Given the description of an element on the screen output the (x, y) to click on. 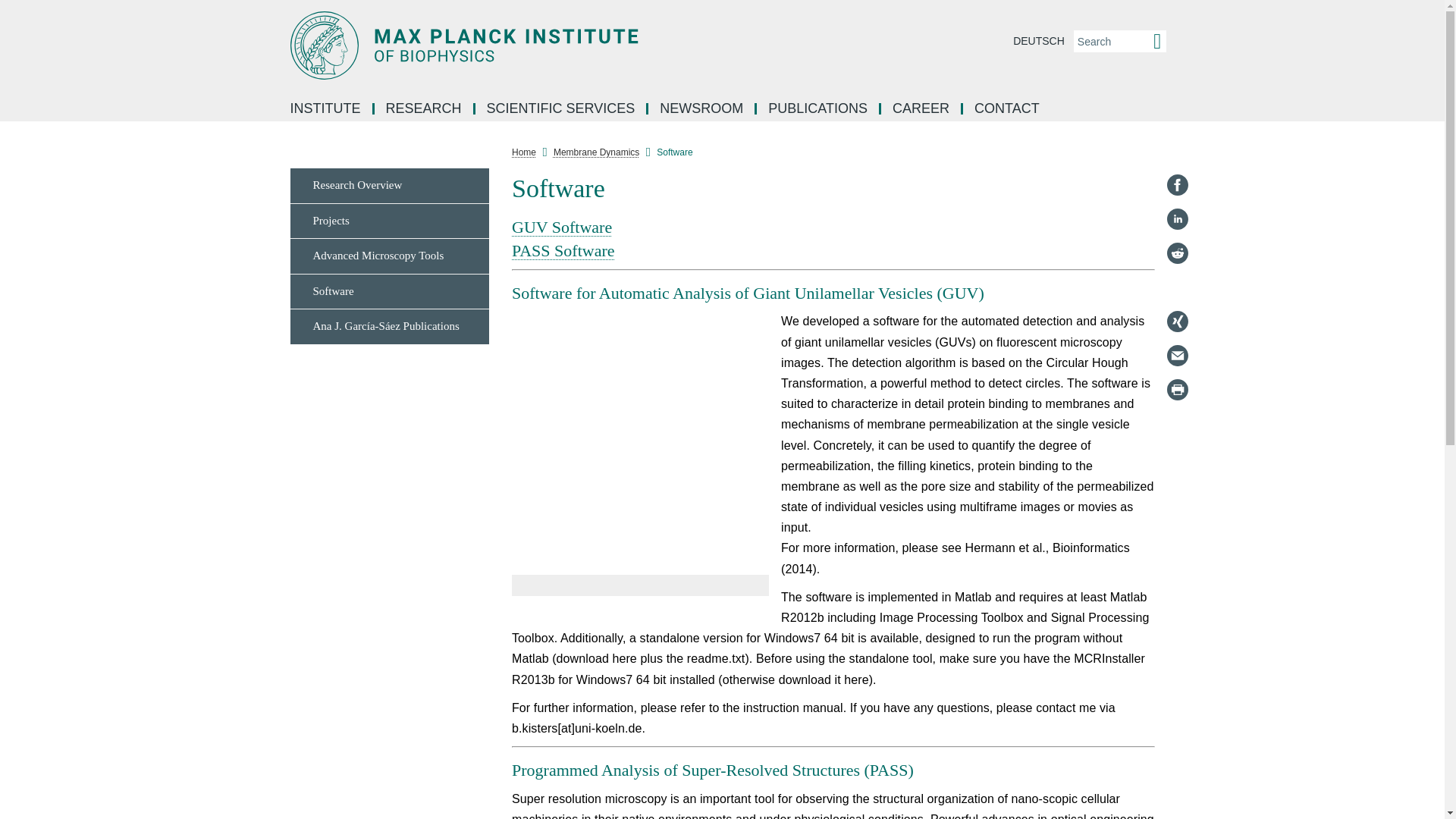
DEUTSCH (1038, 41)
opens zoom view (640, 442)
Xing (1177, 321)
Twitter (1177, 287)
Reddit (1177, 252)
SCIENTIFIC SERVICES (562, 108)
Print (1177, 389)
LinkedIn (1177, 219)
INSTITUTE (326, 108)
E-Mail (1177, 354)
